Given the description of an element on the screen output the (x, y) to click on. 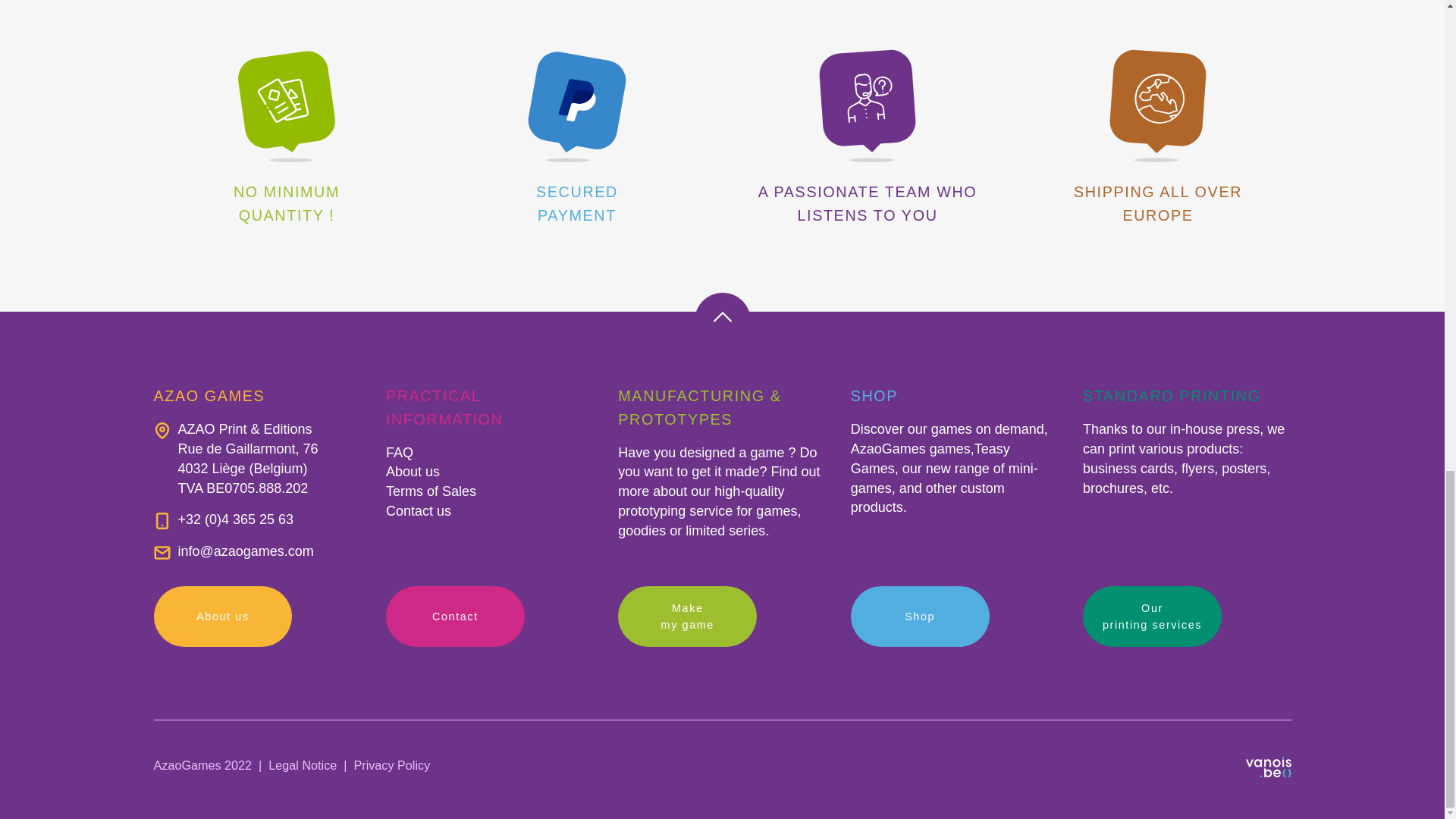
Soyez fier de votre web ! (1267, 769)
Terms of Sales (430, 491)
Privacy Policy (391, 765)
Legal Notice (301, 765)
FAQ (399, 452)
About us (222, 616)
Contact us (418, 510)
Contact (454, 616)
About us (412, 471)
Shop (920, 616)
